Given the description of an element on the screen output the (x, y) to click on. 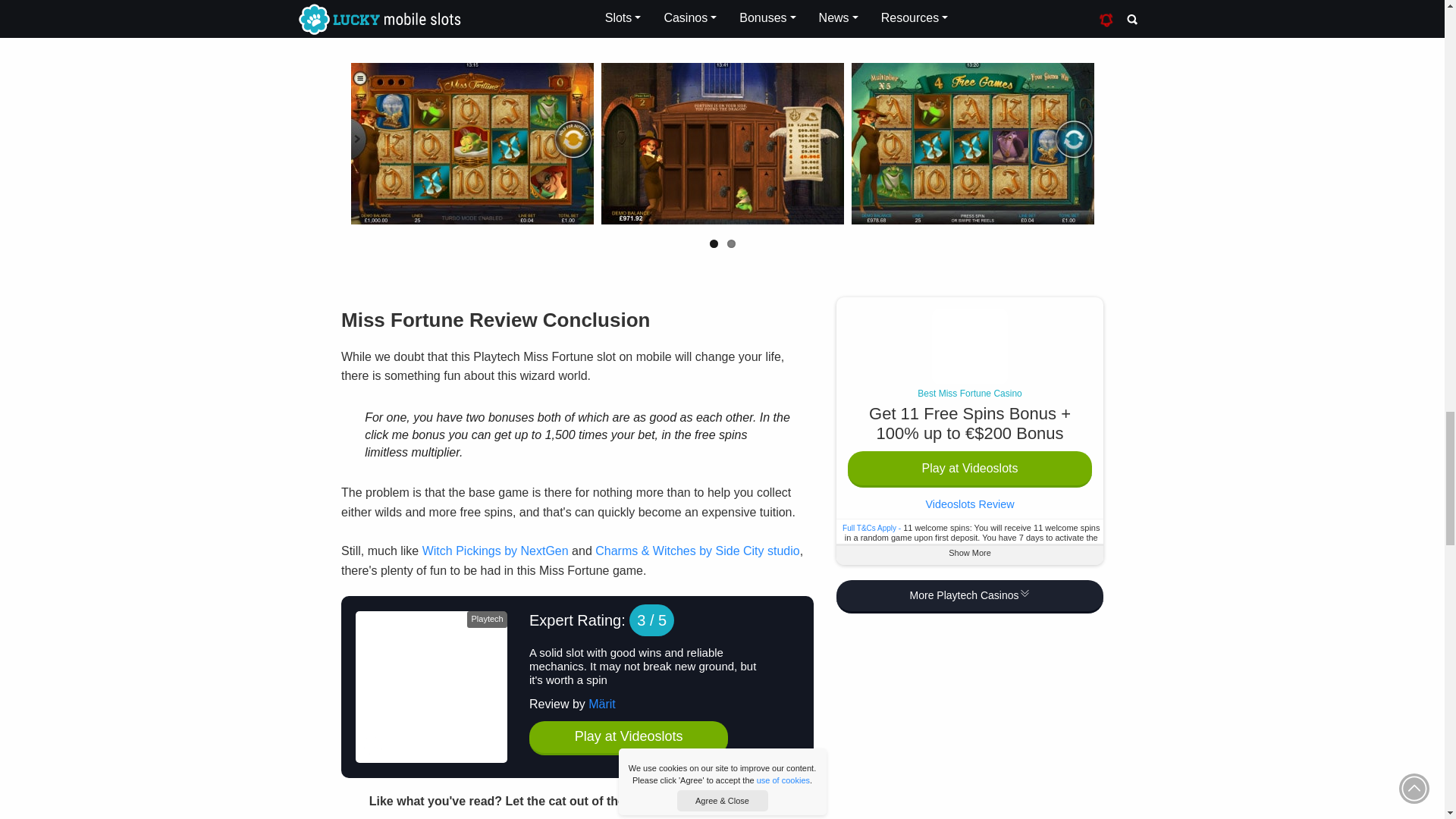
More Playtech Casinos (969, 596)
Charms and Witches Review (697, 550)
Witch Pickings Game Review (495, 550)
